Given the description of an element on the screen output the (x, y) to click on. 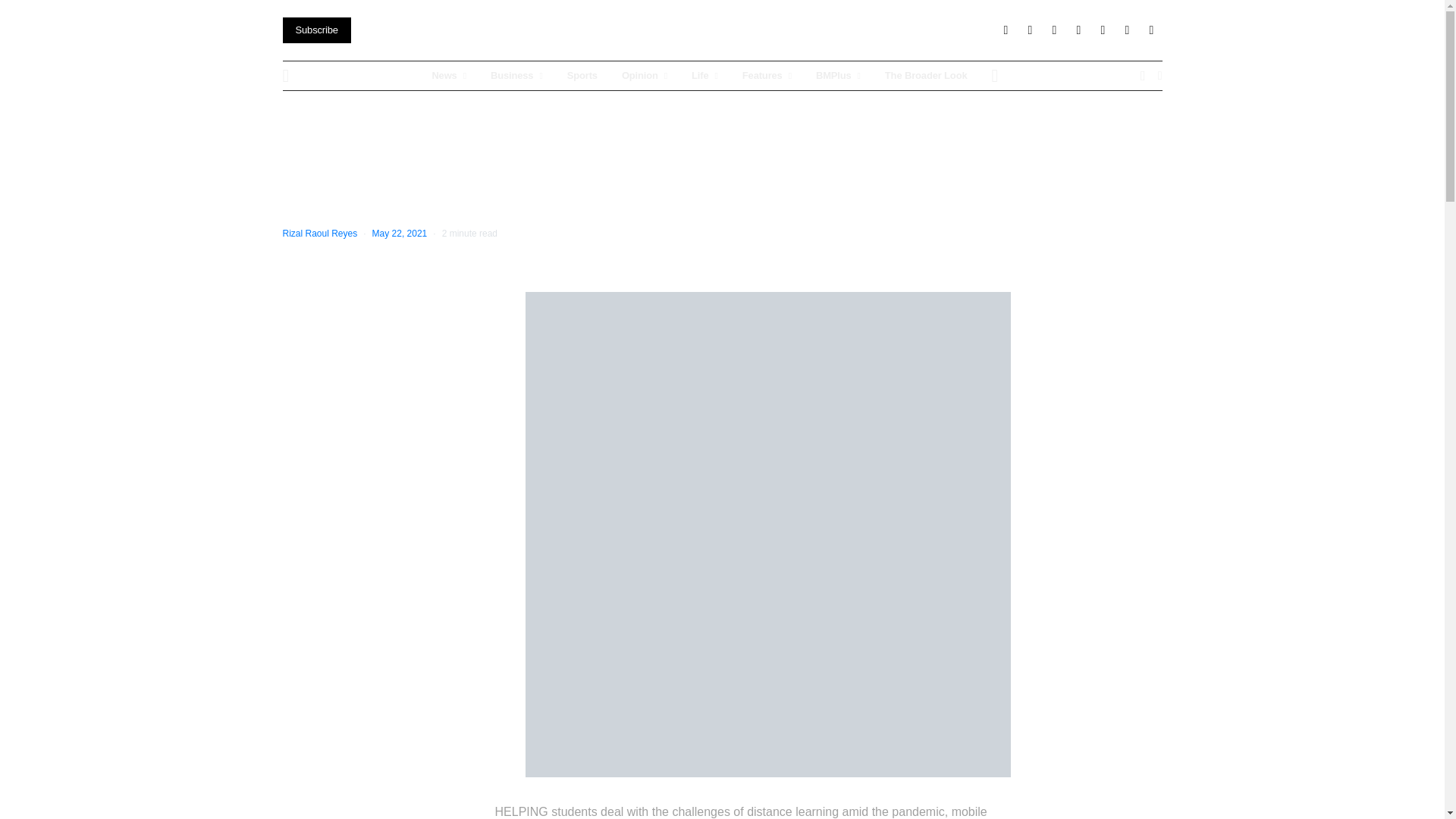
View all posts by Rizal Raoul Reyes (319, 233)
